Given the description of an element on the screen output the (x, y) to click on. 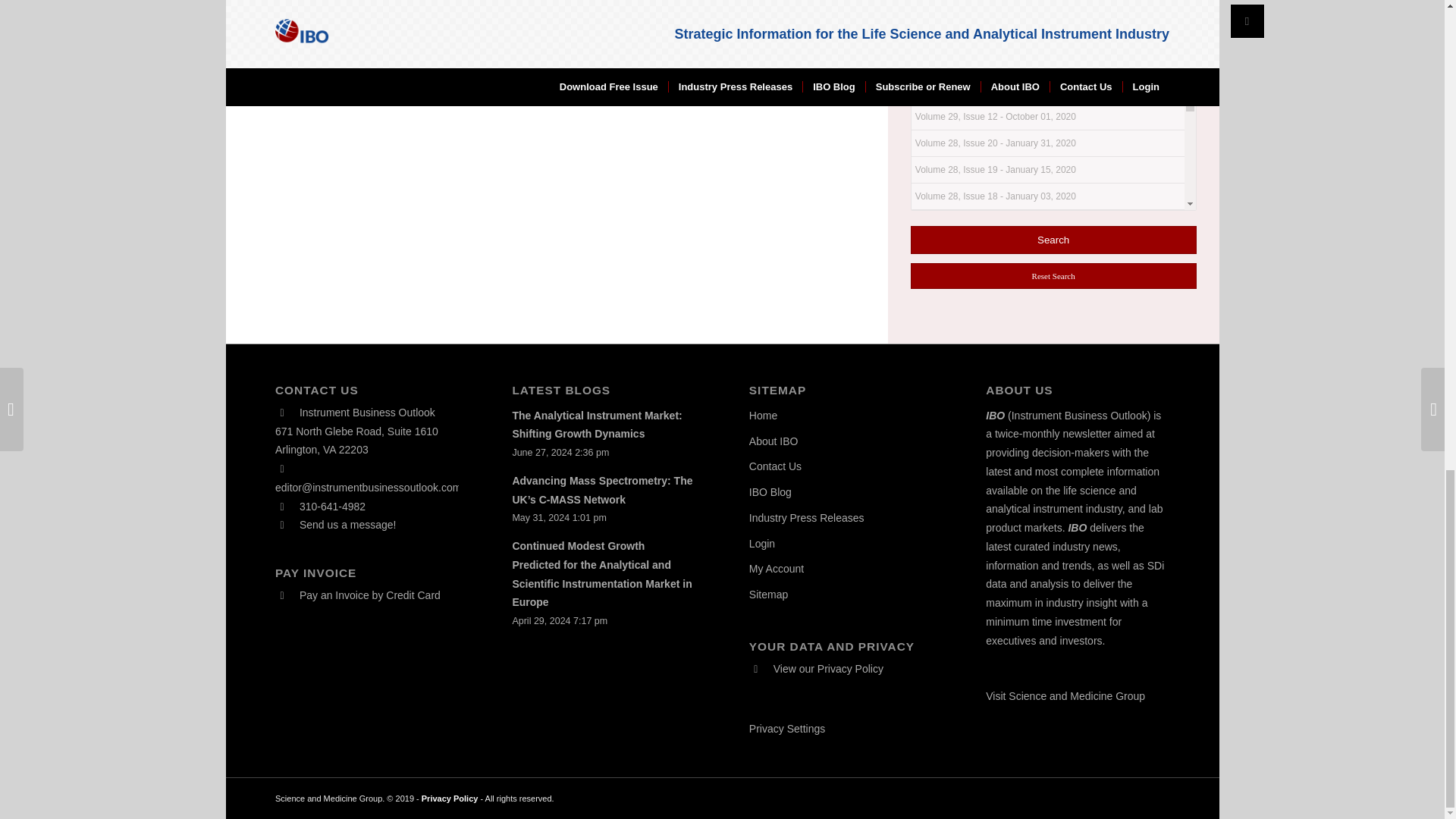
The Analytical Instrument Market: Shifting Growth Dynamics (596, 424)
Region (933, 0)
Feature Type (949, 21)
